Given the description of an element on the screen output the (x, y) to click on. 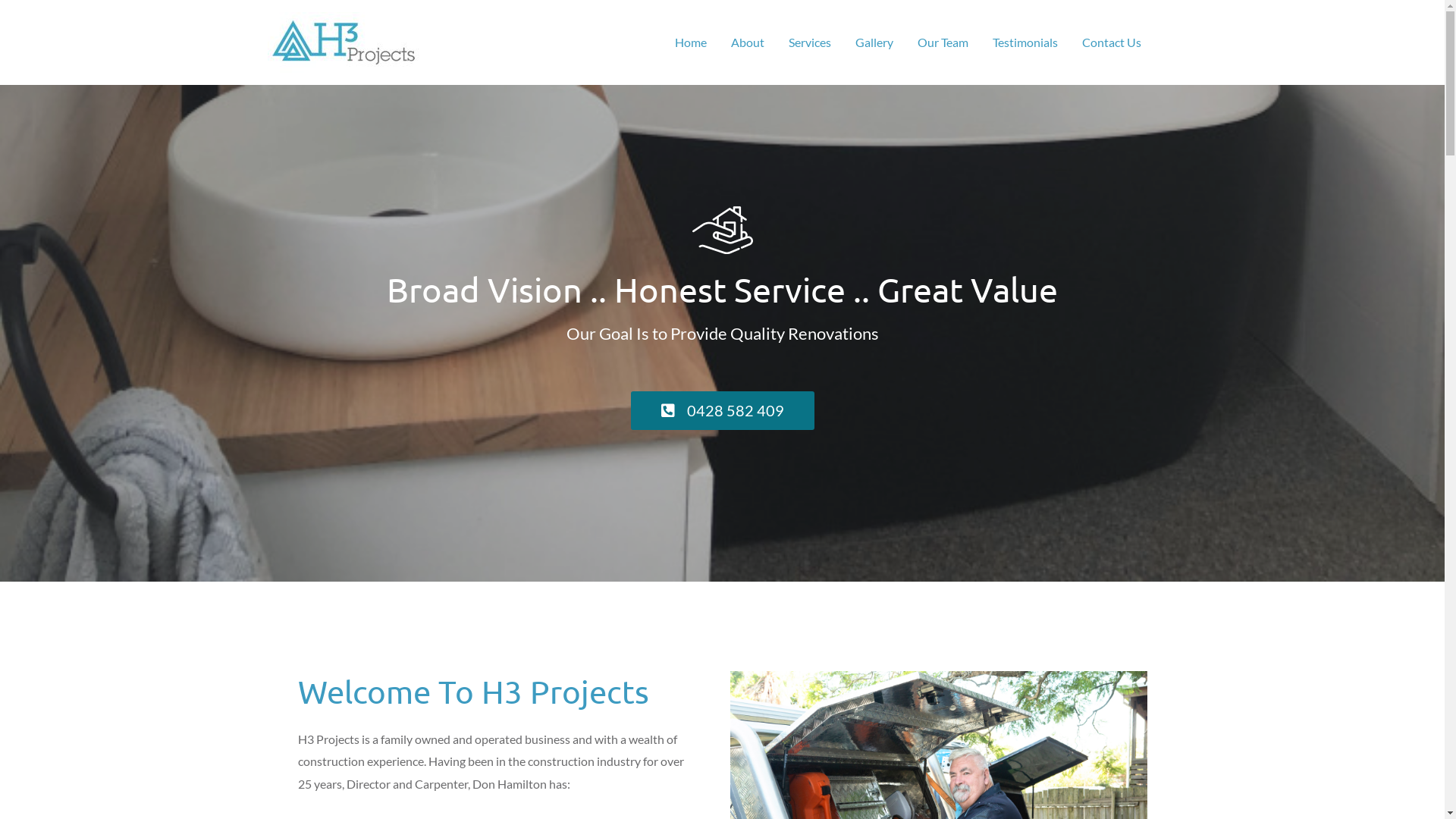
Gallery Element type: text (874, 42)
About Element type: text (747, 42)
Testimonials Element type: text (1024, 42)
Our Team Element type: text (942, 42)
Services Element type: text (809, 42)
Contact Us Element type: text (1110, 42)
Home Element type: text (690, 42)
H3 Projects construction icon03 Element type: hover (721, 230)
0428 582 409 Element type: text (722, 410)
